Given the description of an element on the screen output the (x, y) to click on. 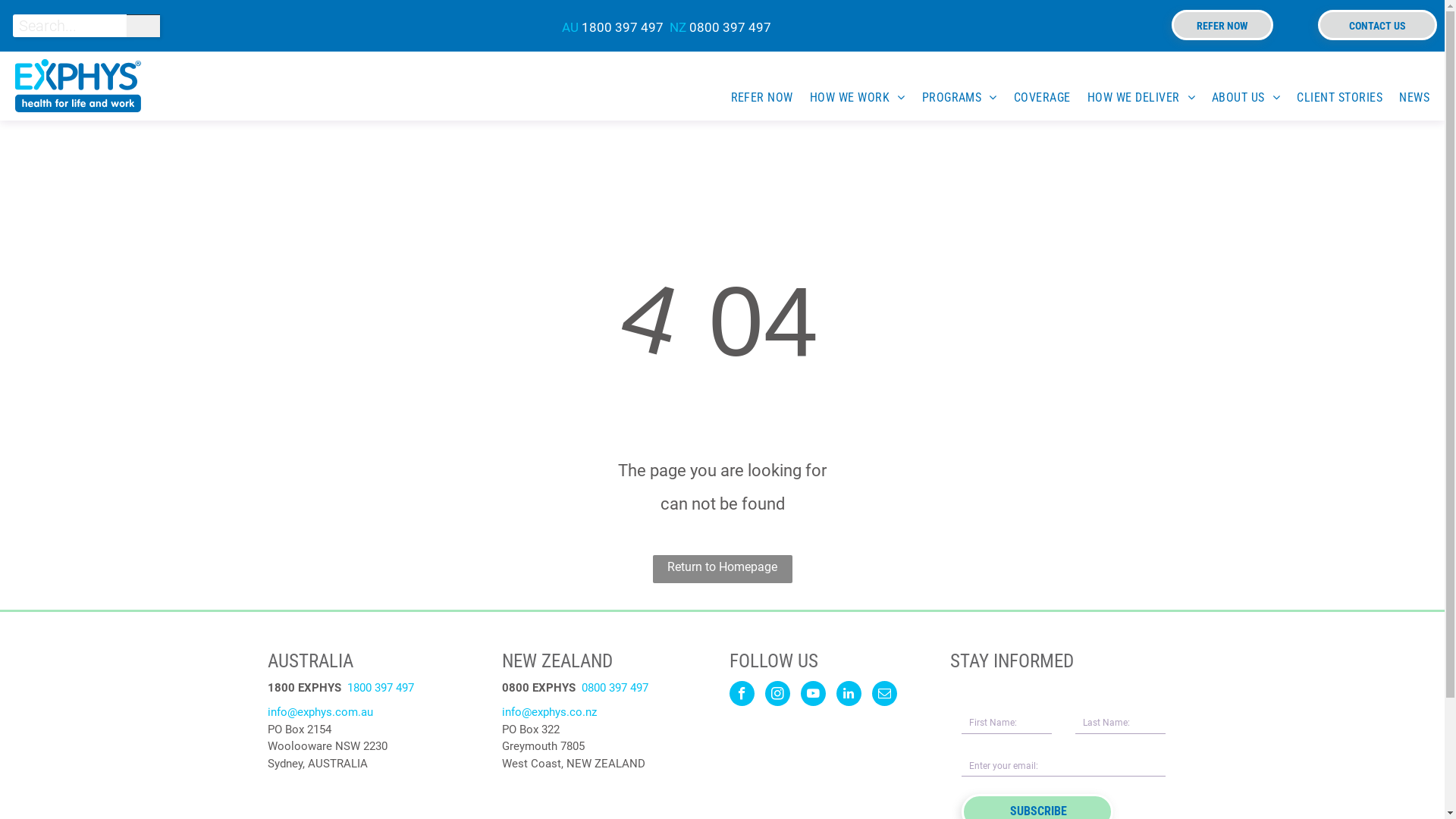
info@exphys.co.nz Element type: text (549, 711)
CONTACT US Element type: text (1377, 24)
ABOUT US Element type: text (1237, 96)
1800 397 497 Element type: text (622, 26)
CLIENT STORIES Element type: text (1331, 96)
REFER NOW Element type: text (753, 96)
info@exphys.com.au Element type: text (319, 711)
Return to Homepage Element type: text (721, 569)
REFER NOW Element type: text (1222, 24)
PROGRAMS Element type: text (951, 96)
HOW WE WORK Element type: text (849, 96)
1800 397 497 Element type: text (380, 687)
NEWS Element type: text (1405, 96)
COVERAGE Element type: text (1033, 96)
0800 397 497 Element type: text (730, 26)
0800 397 497 Element type: text (613, 687)
HOW WE DELIVER Element type: text (1132, 96)
